Given the description of an element on the screen output the (x, y) to click on. 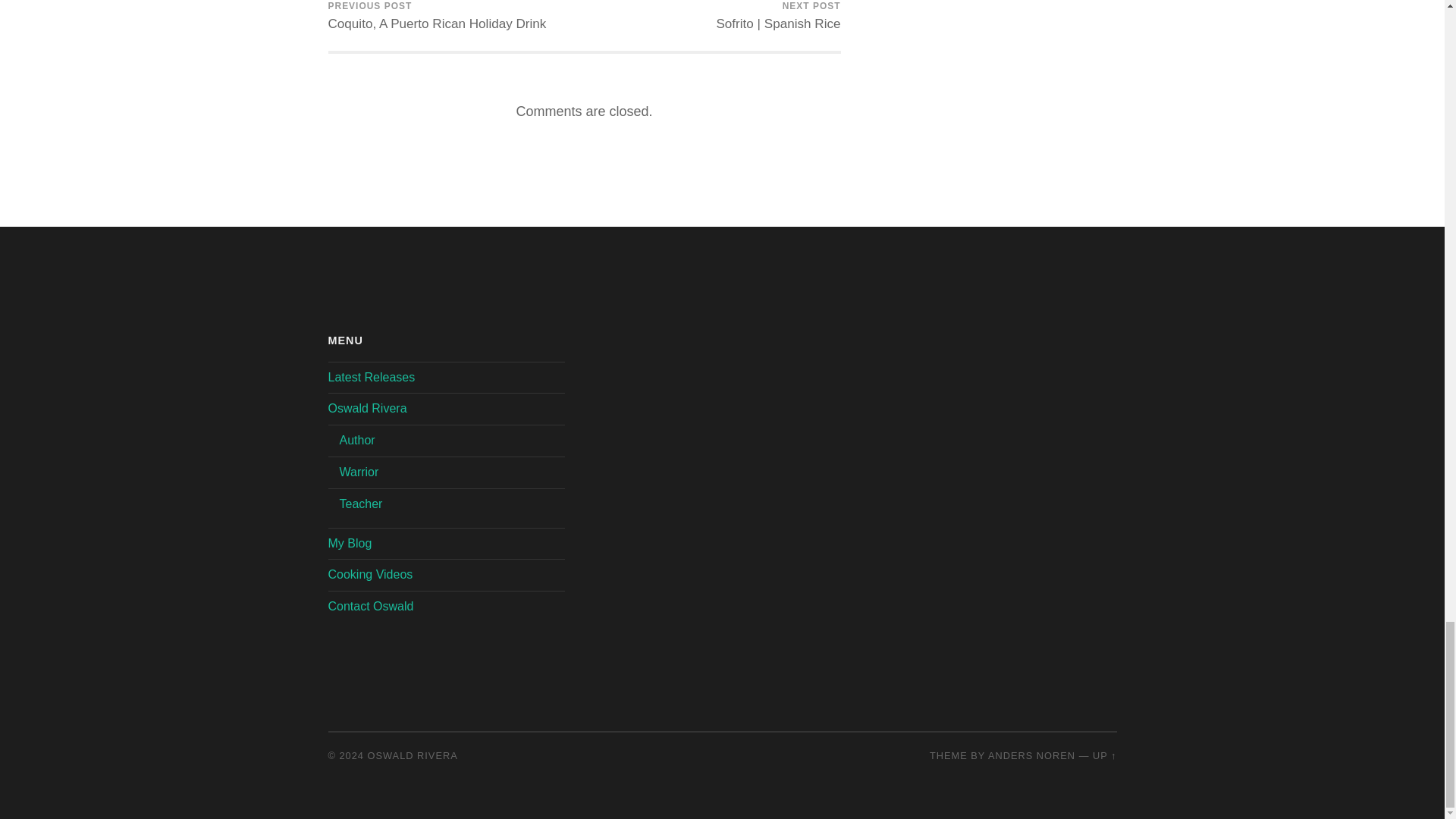
Cooking Videos (369, 574)
Contact Oswald (370, 605)
Oswald Rivera (436, 25)
My Blog (413, 755)
To the top (349, 543)
Warrior (1104, 755)
Author (358, 472)
Previous post: Coquito, A Puerto Rican Holiday Drink (357, 440)
Latest Releases (436, 25)
Oswald Rivera (370, 377)
Teacher (366, 408)
